Given the description of an element on the screen output the (x, y) to click on. 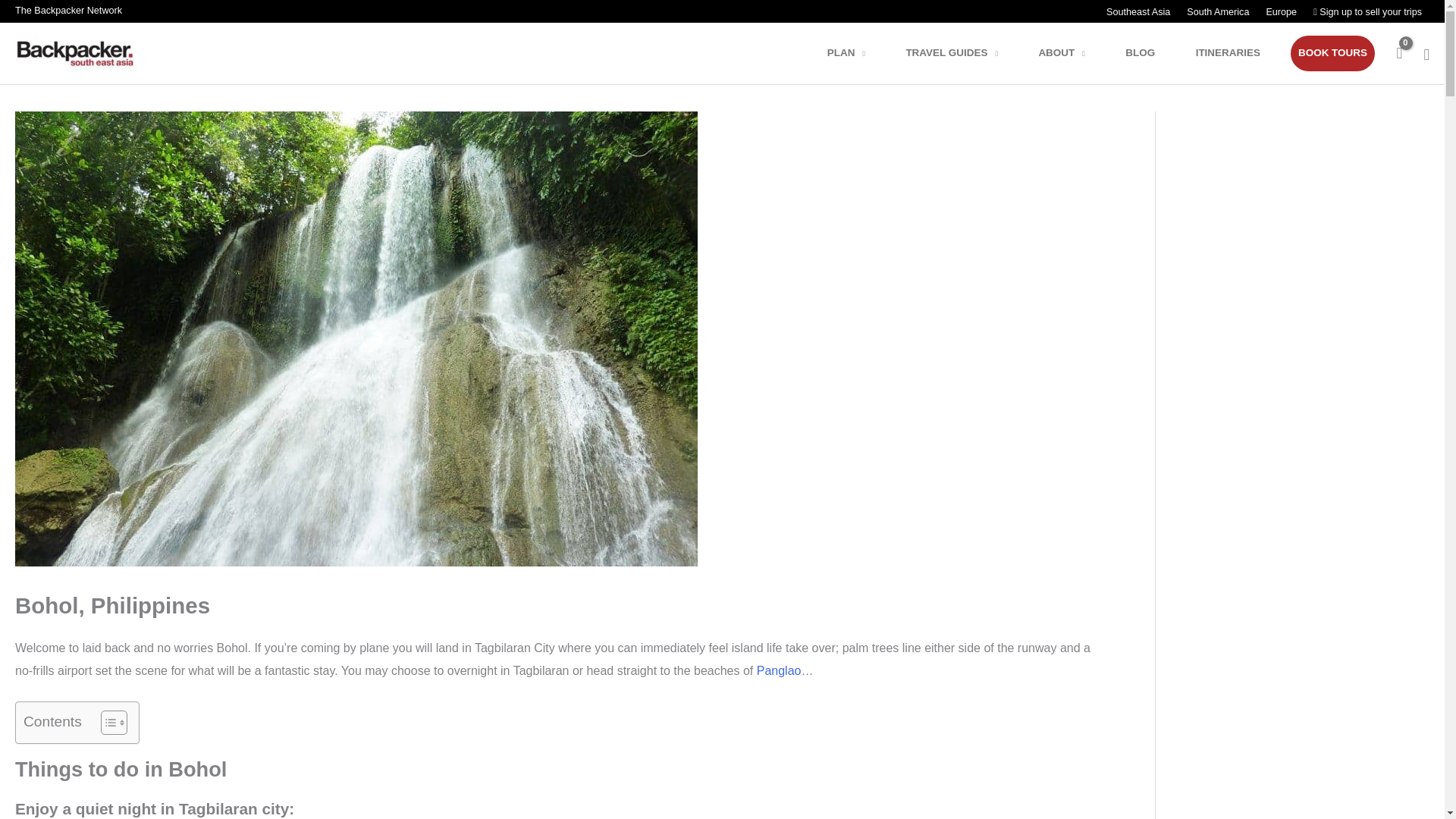
Europe (1280, 12)
ABOUT (1071, 53)
BLOG (1150, 53)
ITINERARIES (1237, 53)
TRAVEL GUIDES (961, 53)
PLAN (855, 53)
BOOK TOURS (1332, 53)
Southeast Asia (1137, 12)
South America (1216, 12)
